Given the description of an element on the screen output the (x, y) to click on. 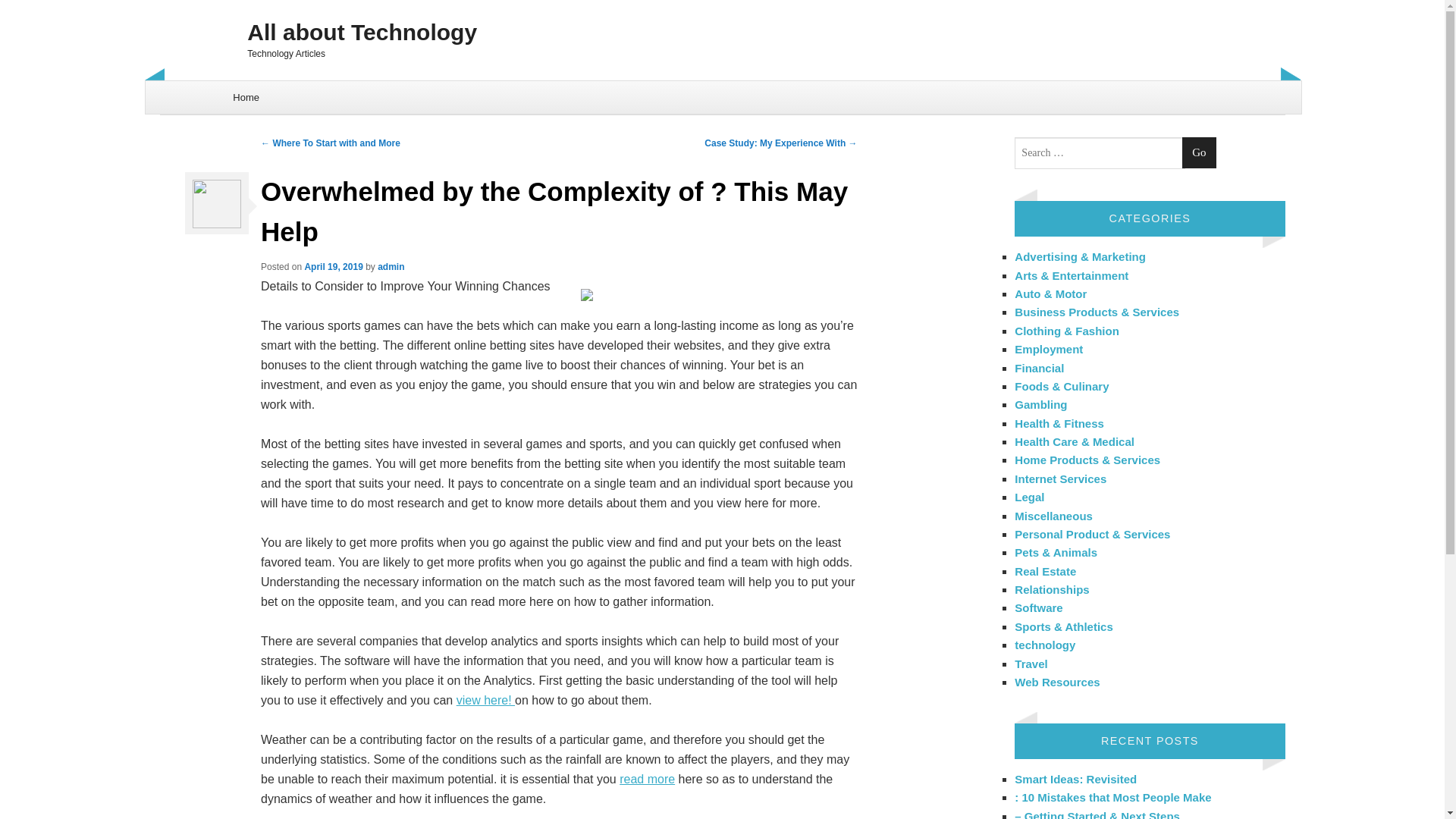
read more (647, 779)
Skip to content (183, 89)
Go (1198, 152)
admin (390, 266)
April 19, 2019 (333, 266)
Relationships (1051, 589)
Employment (1048, 349)
Real Estate (1044, 571)
Financial (1039, 367)
Legal (1028, 496)
